Given the description of an element on the screen output the (x, y) to click on. 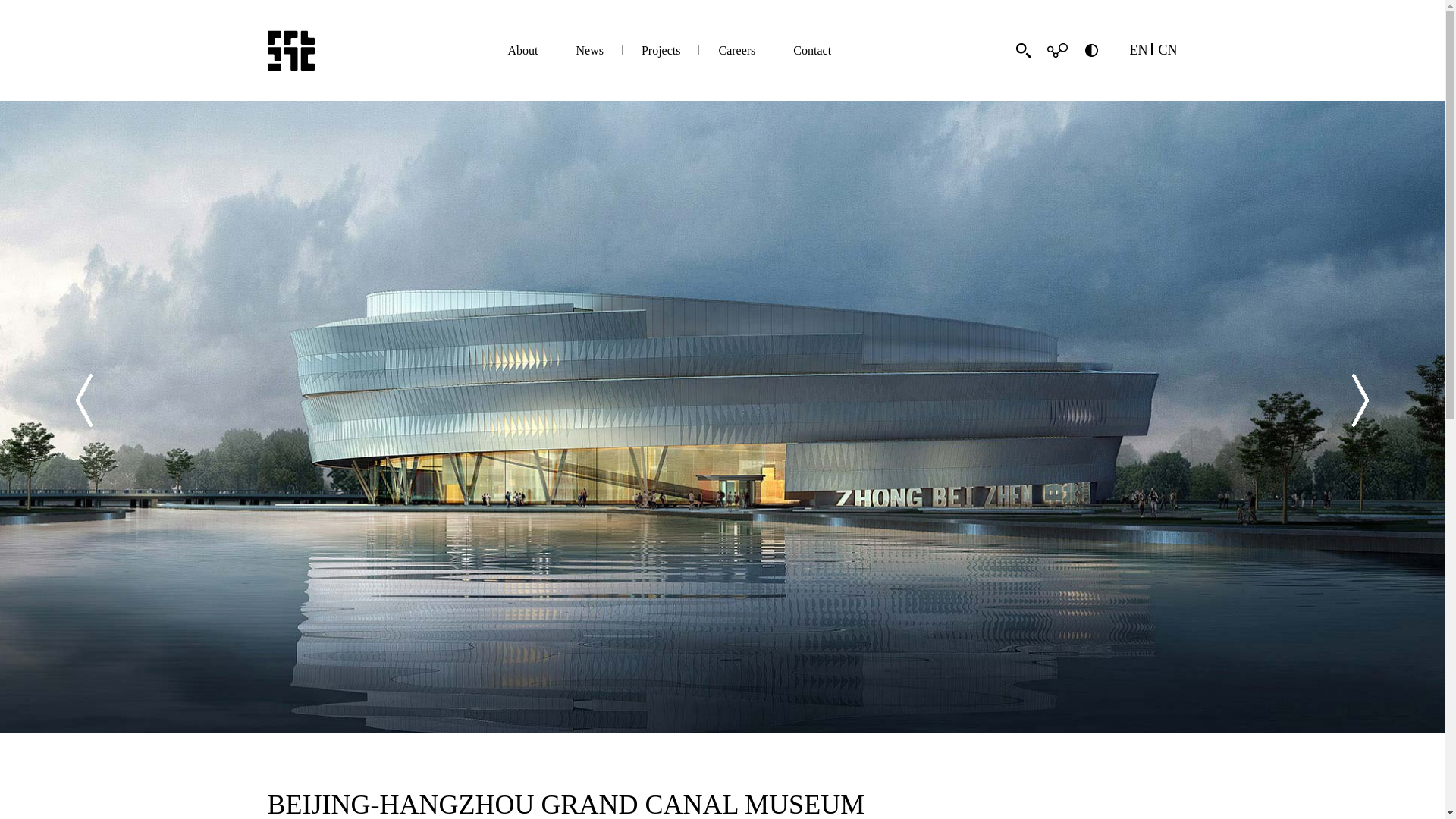
Contact (812, 50)
Projects (661, 50)
Careers (736, 50)
